Given the description of an element on the screen output the (x, y) to click on. 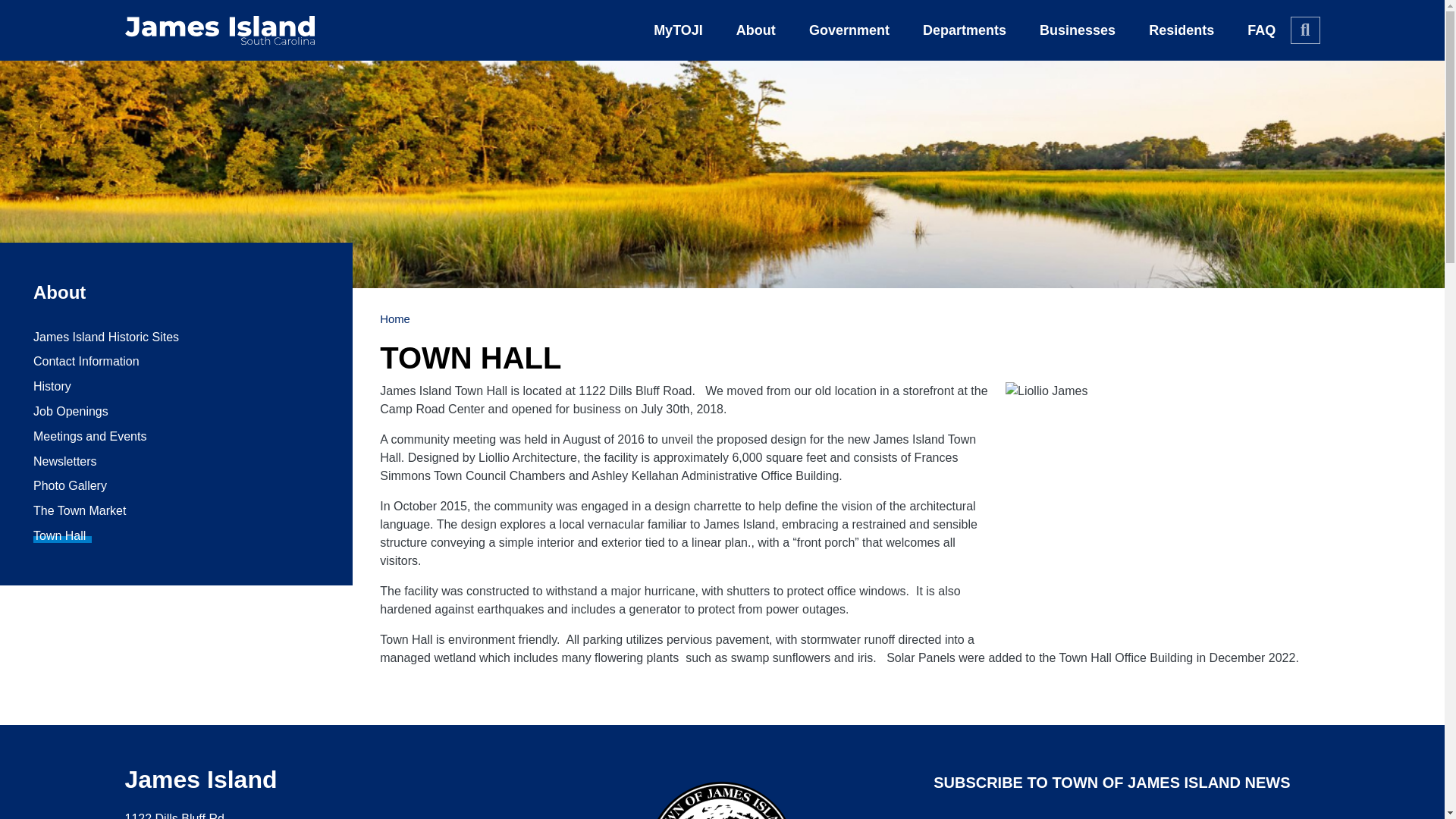
Departments (964, 29)
Search (1304, 30)
Home (219, 30)
Government (848, 29)
MyTOJI (678, 29)
